Given the description of an element on the screen output the (x, y) to click on. 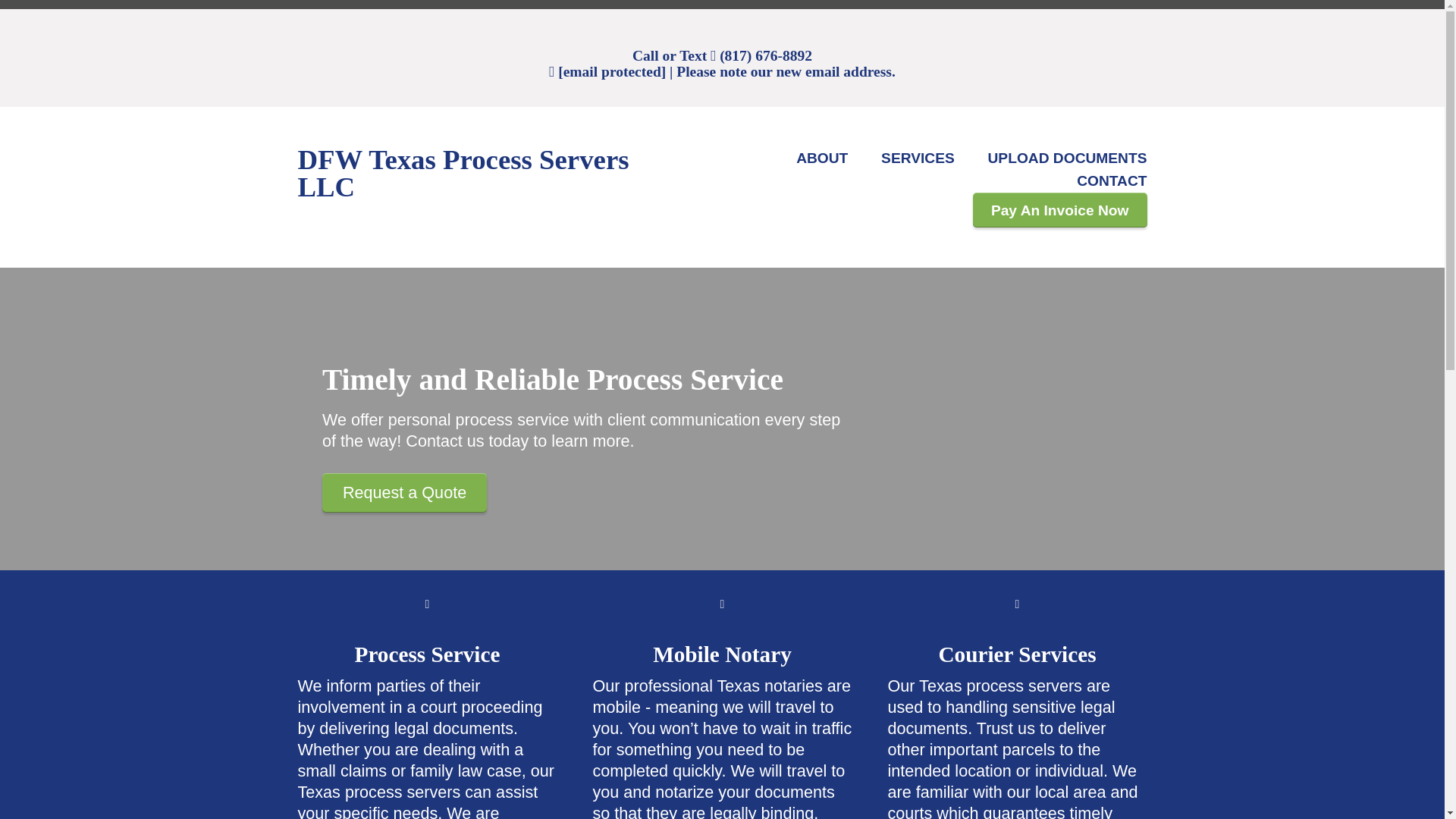
UPLOAD DOCUMENTS (1067, 157)
ABOUT (821, 157)
CONTACT (1112, 180)
DFW Texas Process Servers LLC (462, 178)
Request a Quote (403, 492)
SERVICES (917, 157)
Pay An Invoice Now (1059, 209)
Pay An Invoice Now (1059, 209)
